Given the description of an element on the screen output the (x, y) to click on. 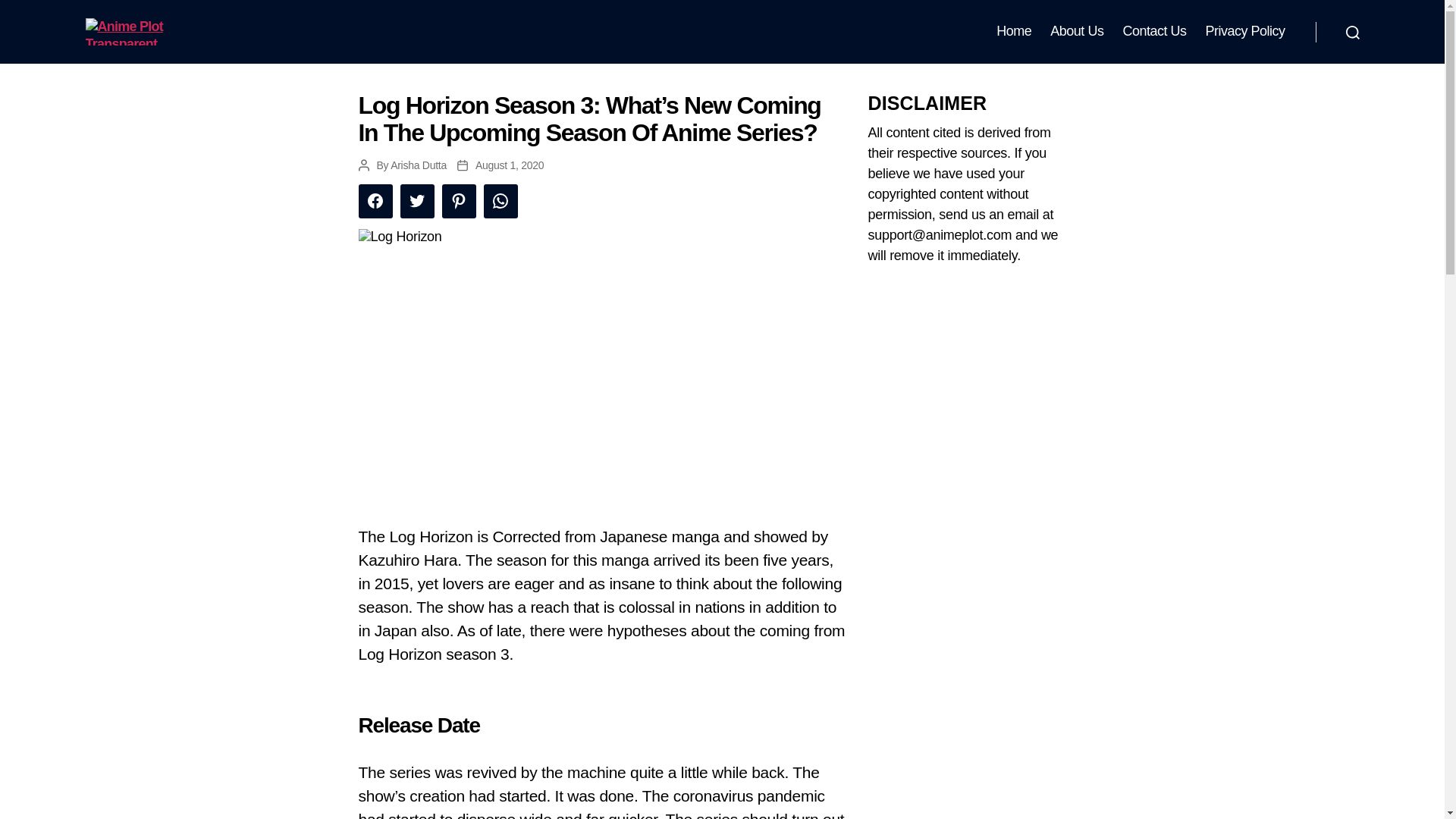
About Us (1076, 31)
August 1, 2020 (509, 164)
Privacy Policy (1244, 31)
Search (1351, 31)
Home (1012, 31)
Arisha Dutta (418, 164)
Contact Us (1154, 31)
